Given the description of an element on the screen output the (x, y) to click on. 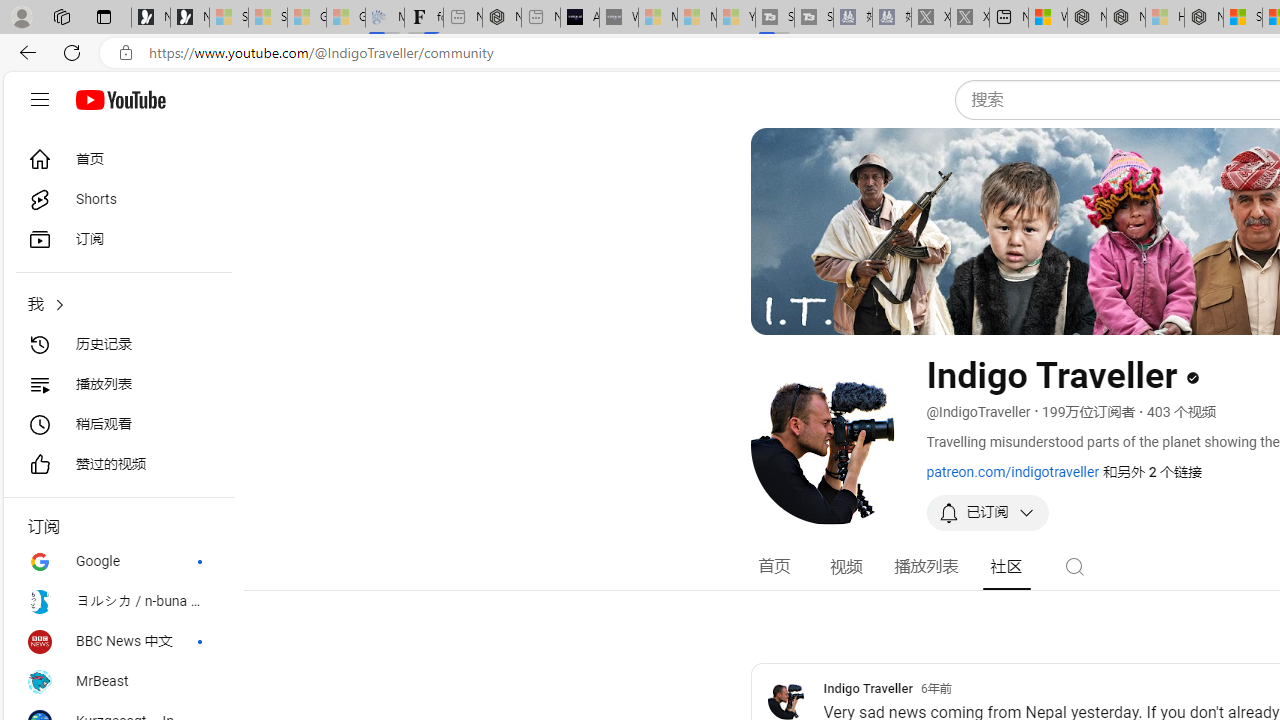
Indigo Traveller (867, 688)
